Given the description of an element on the screen output the (x, y) to click on. 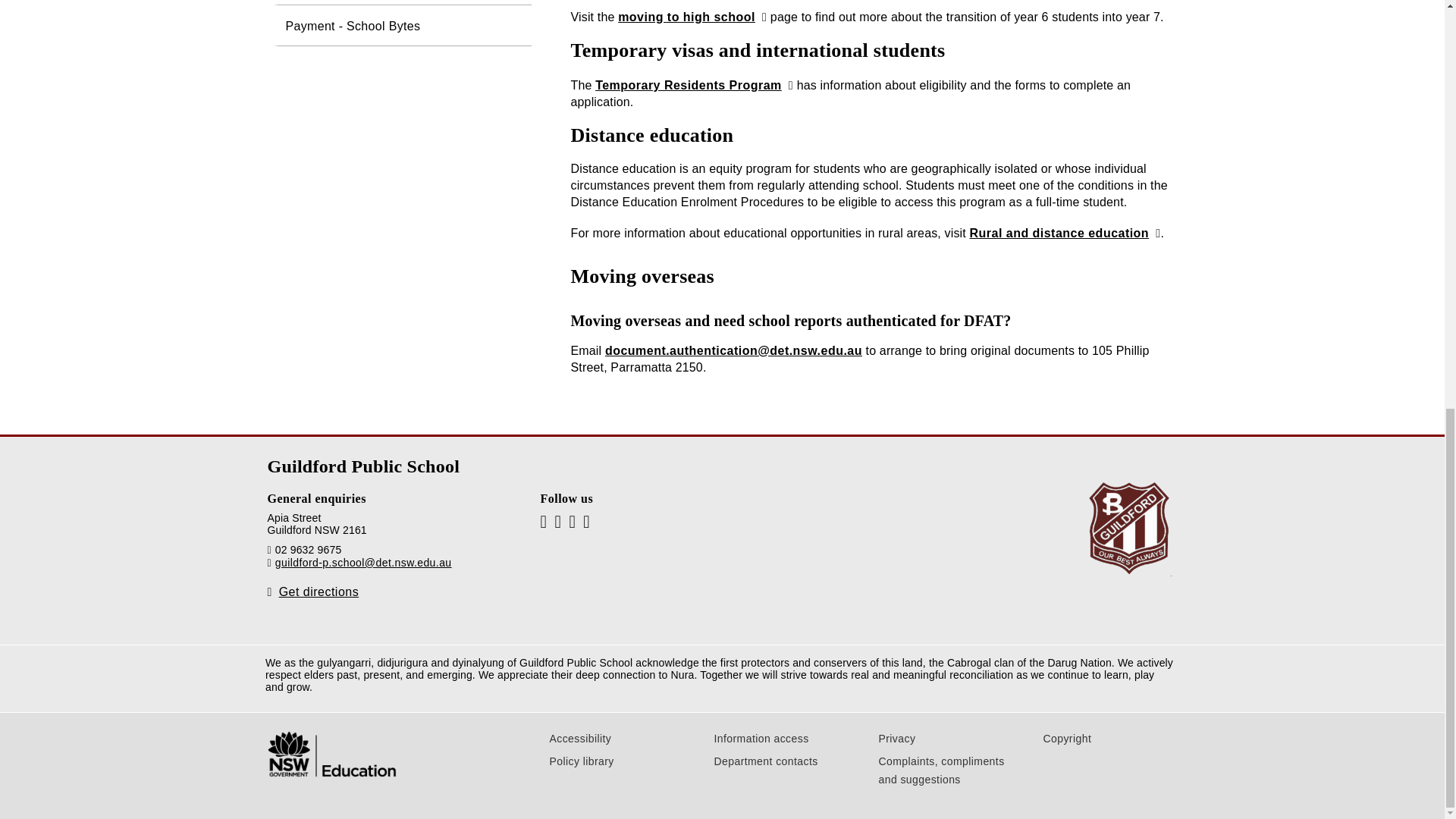
Twitter channel (586, 521)
Facebook channel (557, 521)
Youtube channel (543, 521)
Instagram channel (572, 521)
